Given the description of an element on the screen output the (x, y) to click on. 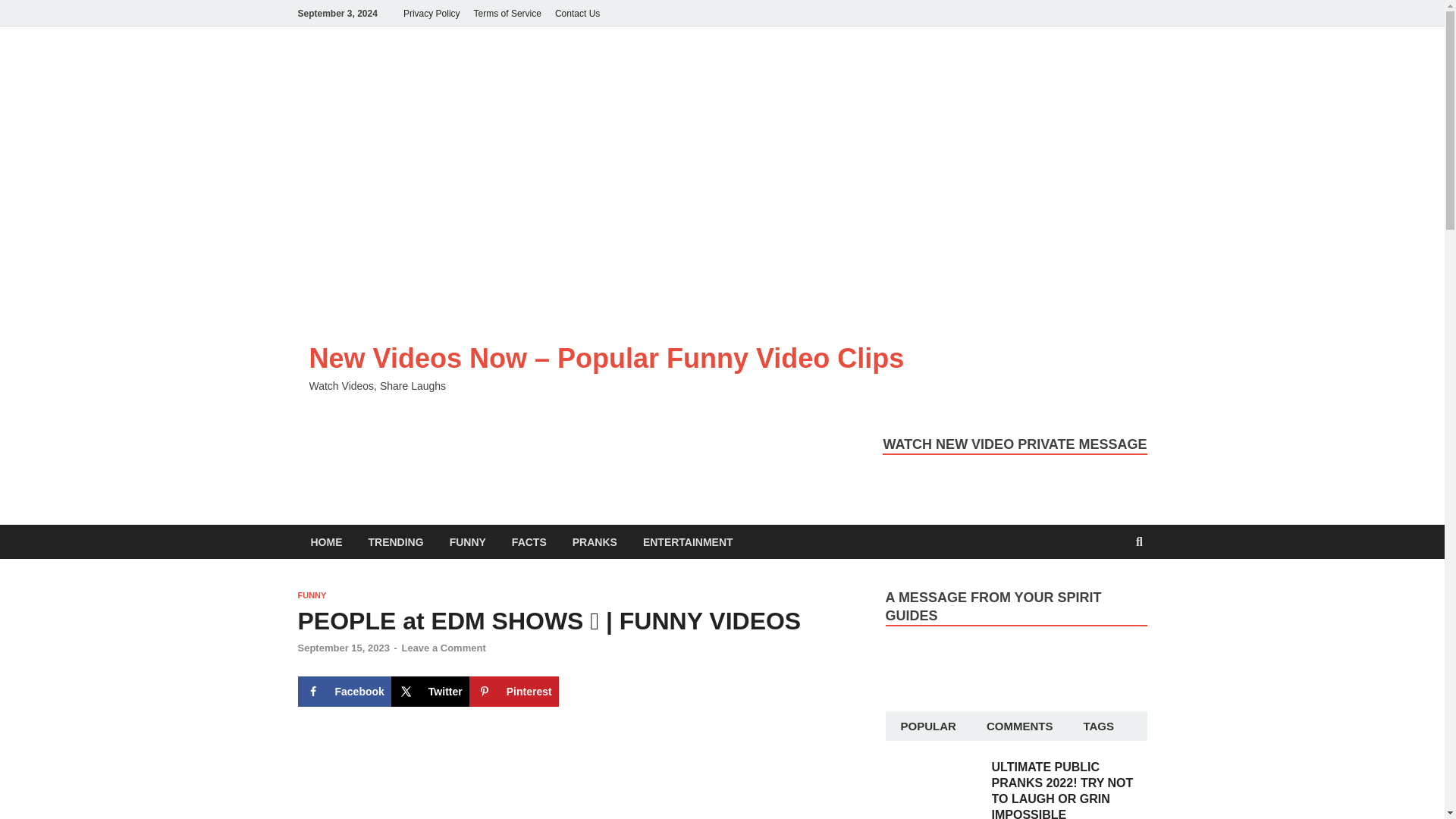
Facebook (343, 691)
Contact Us (577, 13)
Share on X (429, 691)
FUNNY (311, 594)
Twitter (429, 691)
Privacy Policy (431, 13)
Terms of Service (507, 13)
Share on Facebook (343, 691)
Pinterest (513, 691)
Leave a Comment (442, 647)
